Given the description of an element on the screen output the (x, y) to click on. 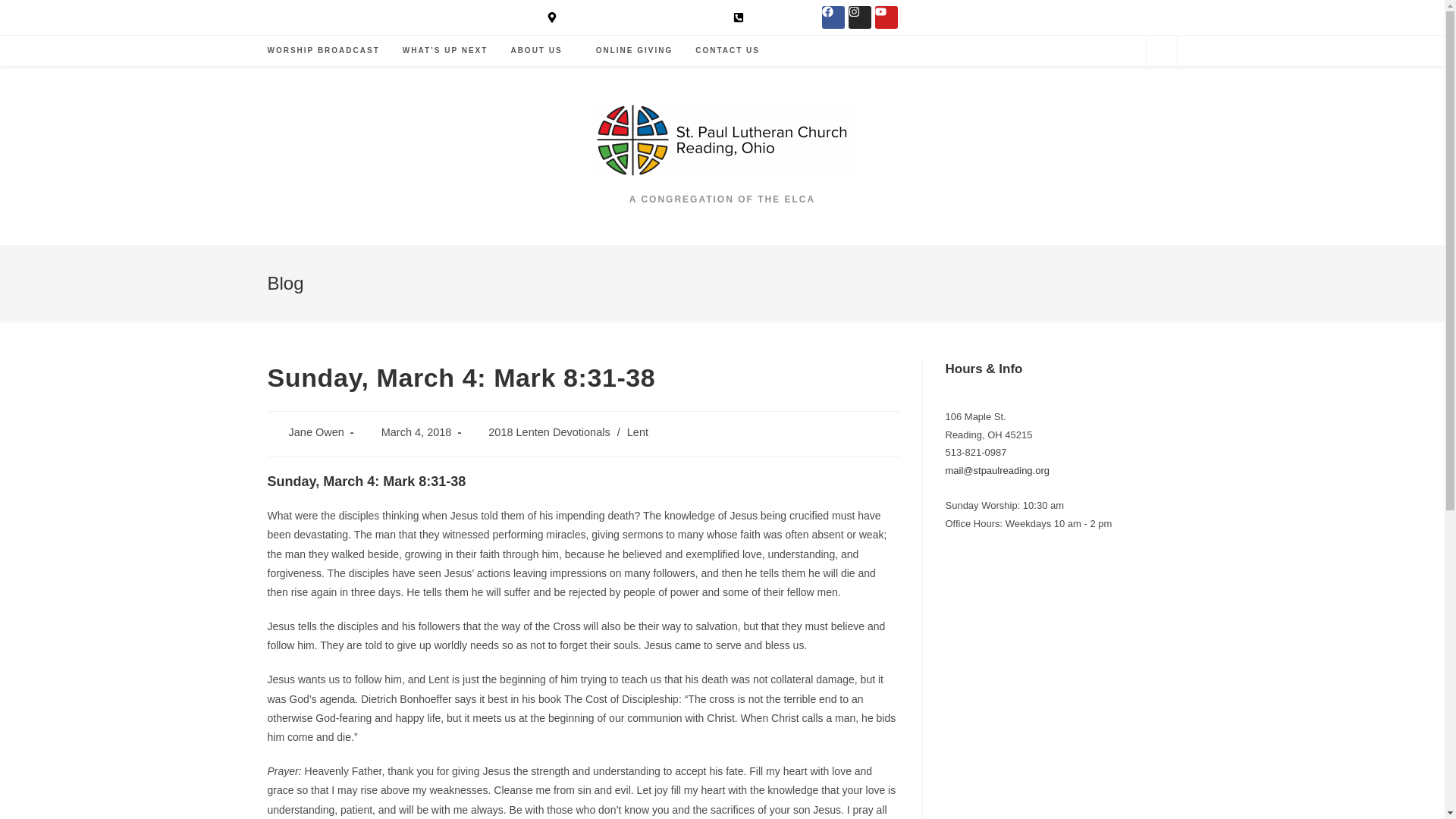
CONTACT US (727, 51)
ABOUT US (541, 51)
WORSHIP BROADCAST (323, 51)
Google map of st. paul lutheran church, reading, oh (1060, 690)
106 MAPLE ST., READING, OH 45215 (633, 17)
ONLINE GIVING (634, 51)
Posts by Jane Owen (315, 431)
513-821-0987 (769, 17)
